Given the description of an element on the screen output the (x, y) to click on. 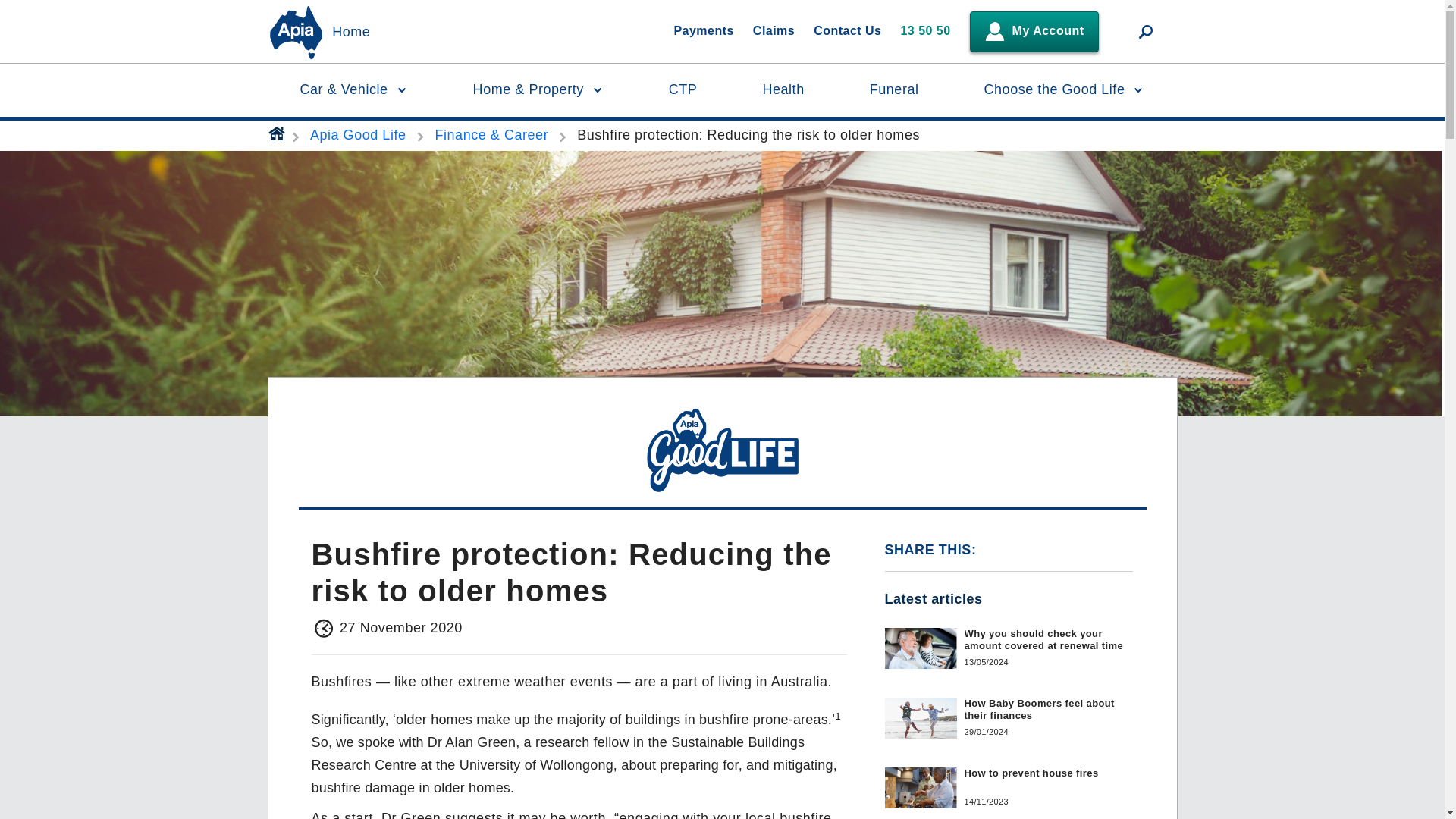
13 50 50 (924, 31)
Home (350, 32)
Home (350, 32)
Payments (702, 31)
Contact Us (846, 31)
Claims (773, 31)
My Account (1034, 30)
